Given the description of an element on the screen output the (x, y) to click on. 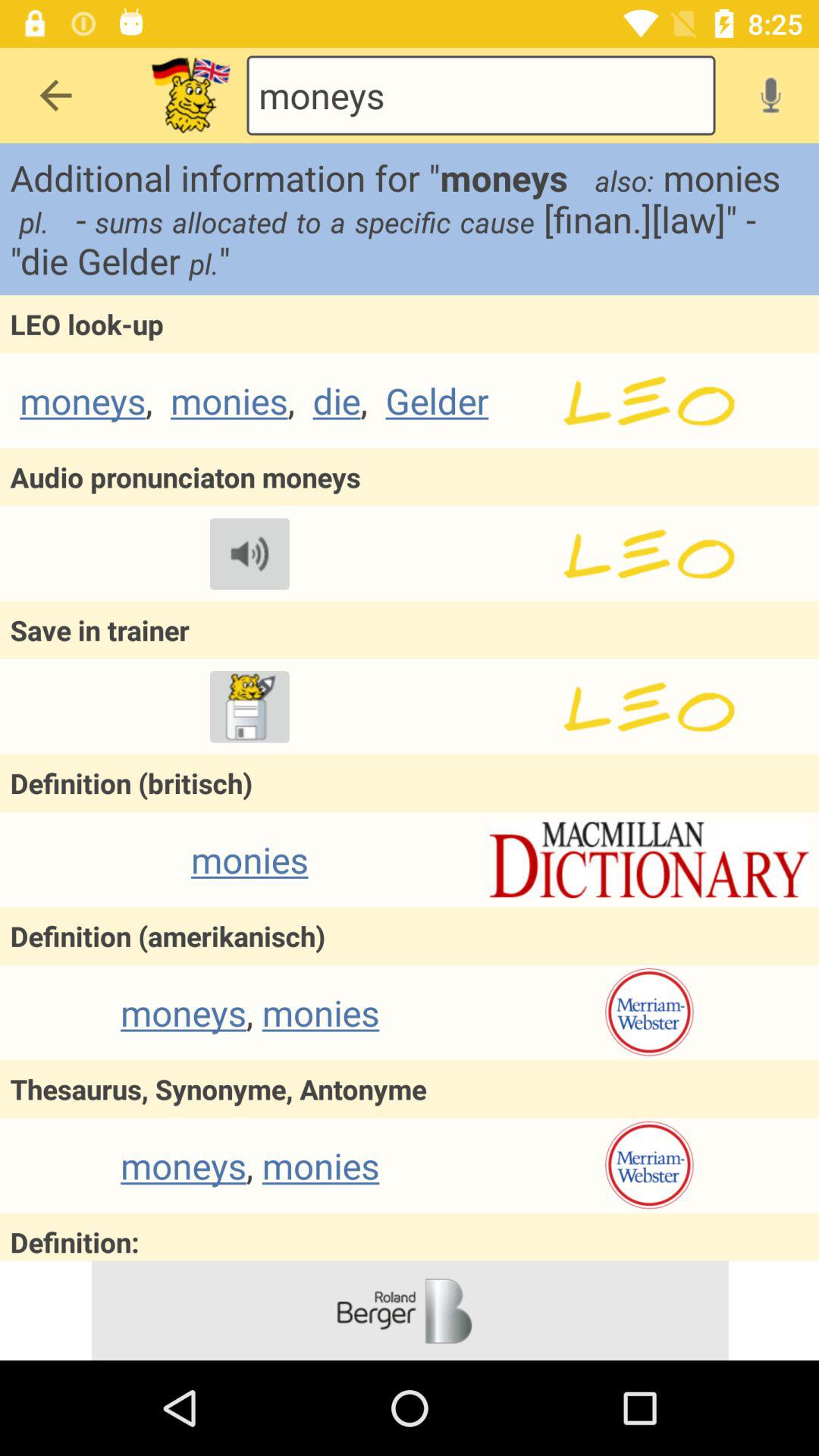
the pronunciation is from leo 's database (648, 553)
